Given the description of an element on the screen output the (x, y) to click on. 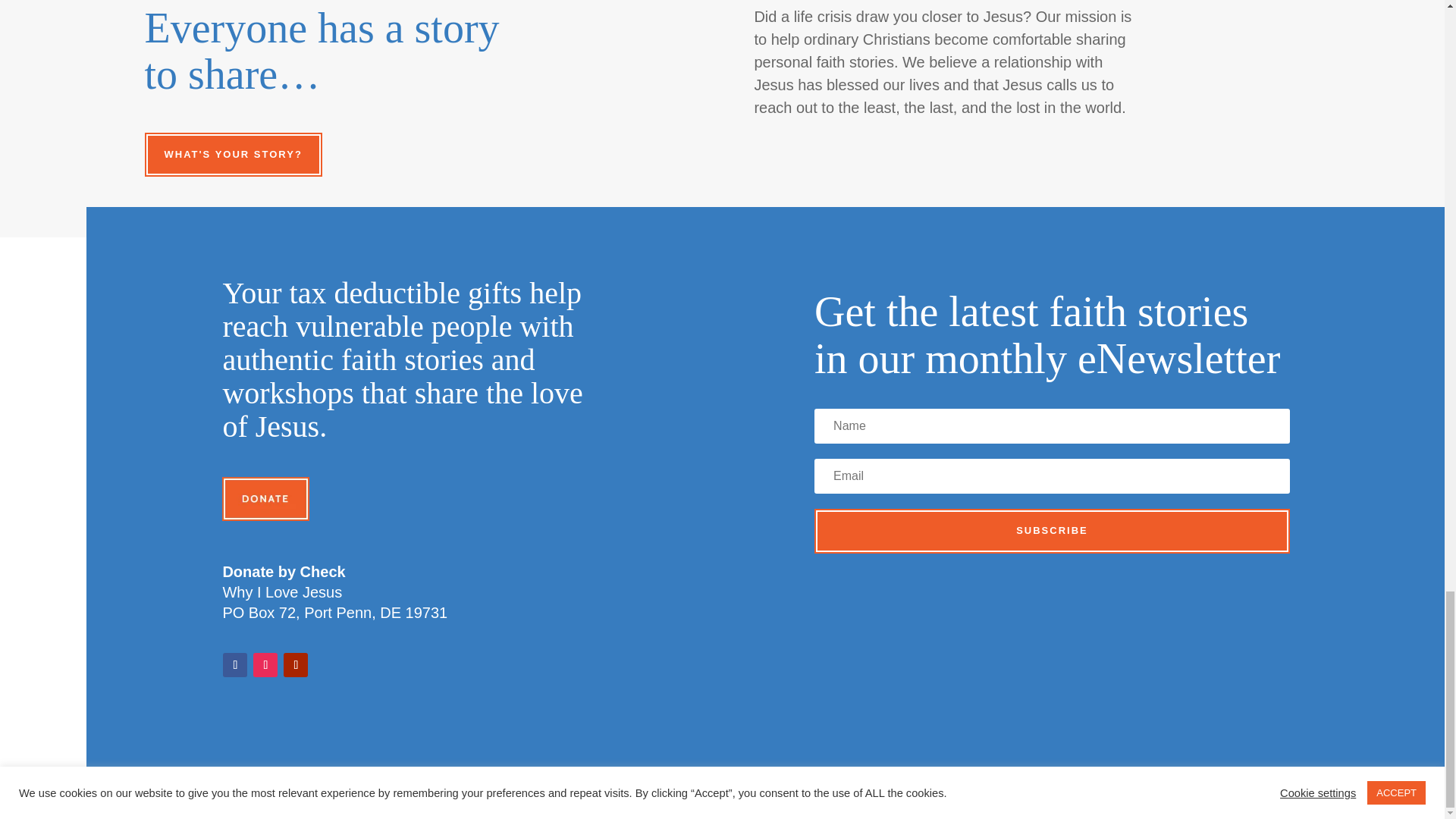
Follow on Youtube (295, 664)
PayPal - The safer, easier way to pay online! (265, 498)
Follow on Instagram (265, 664)
Follow on Facebook (234, 664)
